Given the description of an element on the screen output the (x, y) to click on. 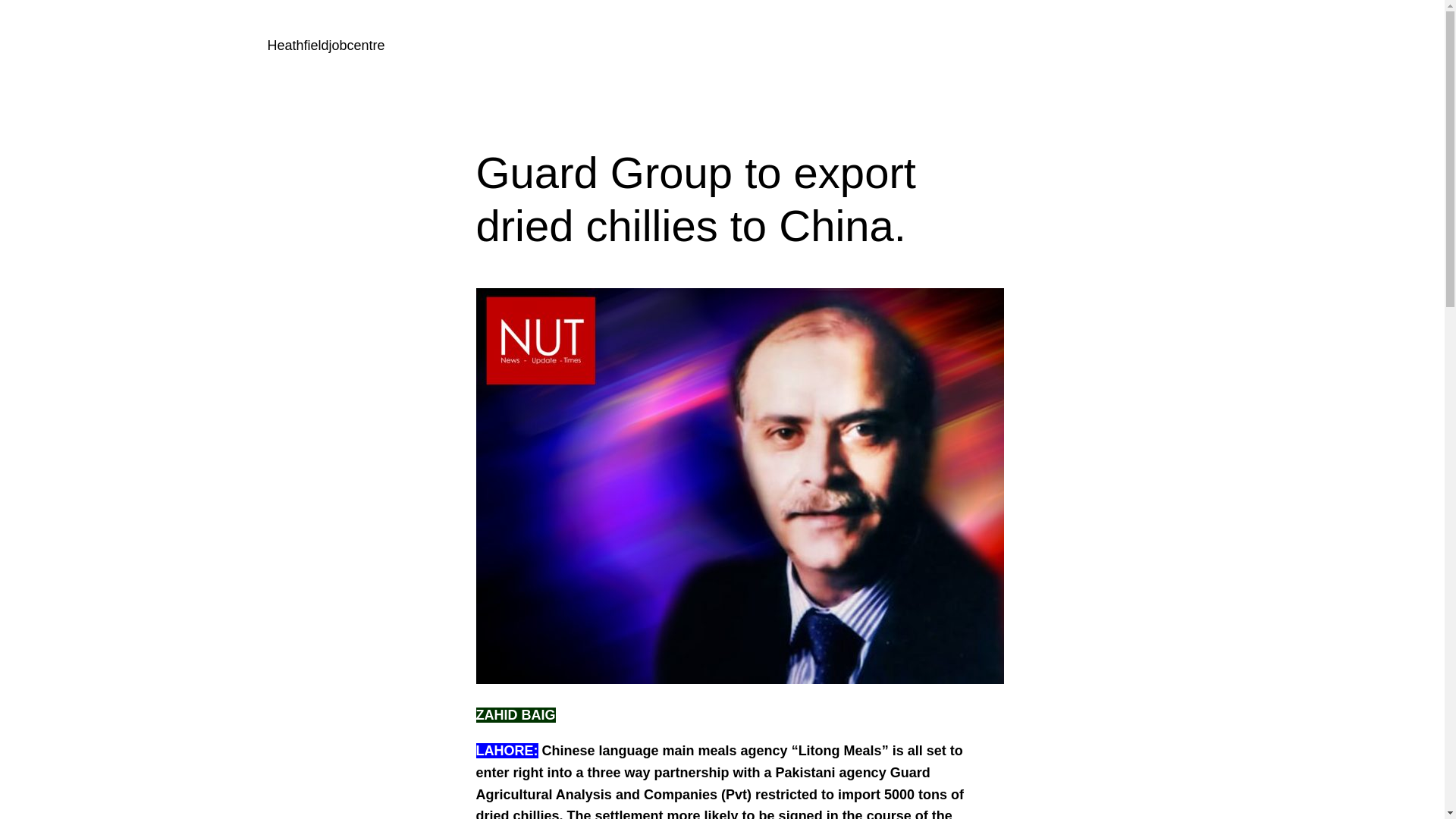
Heathfieldjobcentre (325, 45)
